Given the description of an element on the screen output the (x, y) to click on. 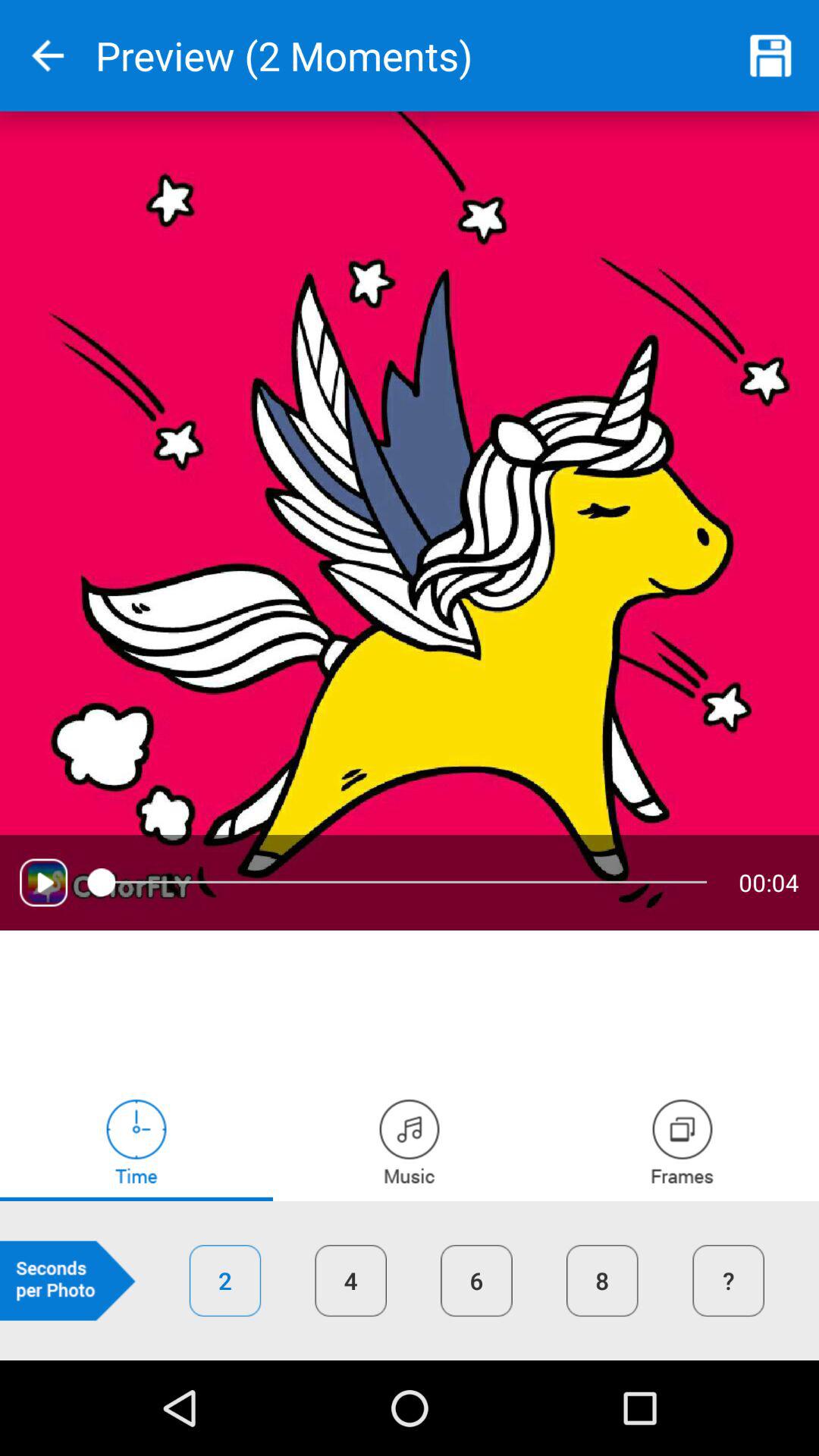
play media (43, 882)
